Given the description of an element on the screen output the (x, y) to click on. 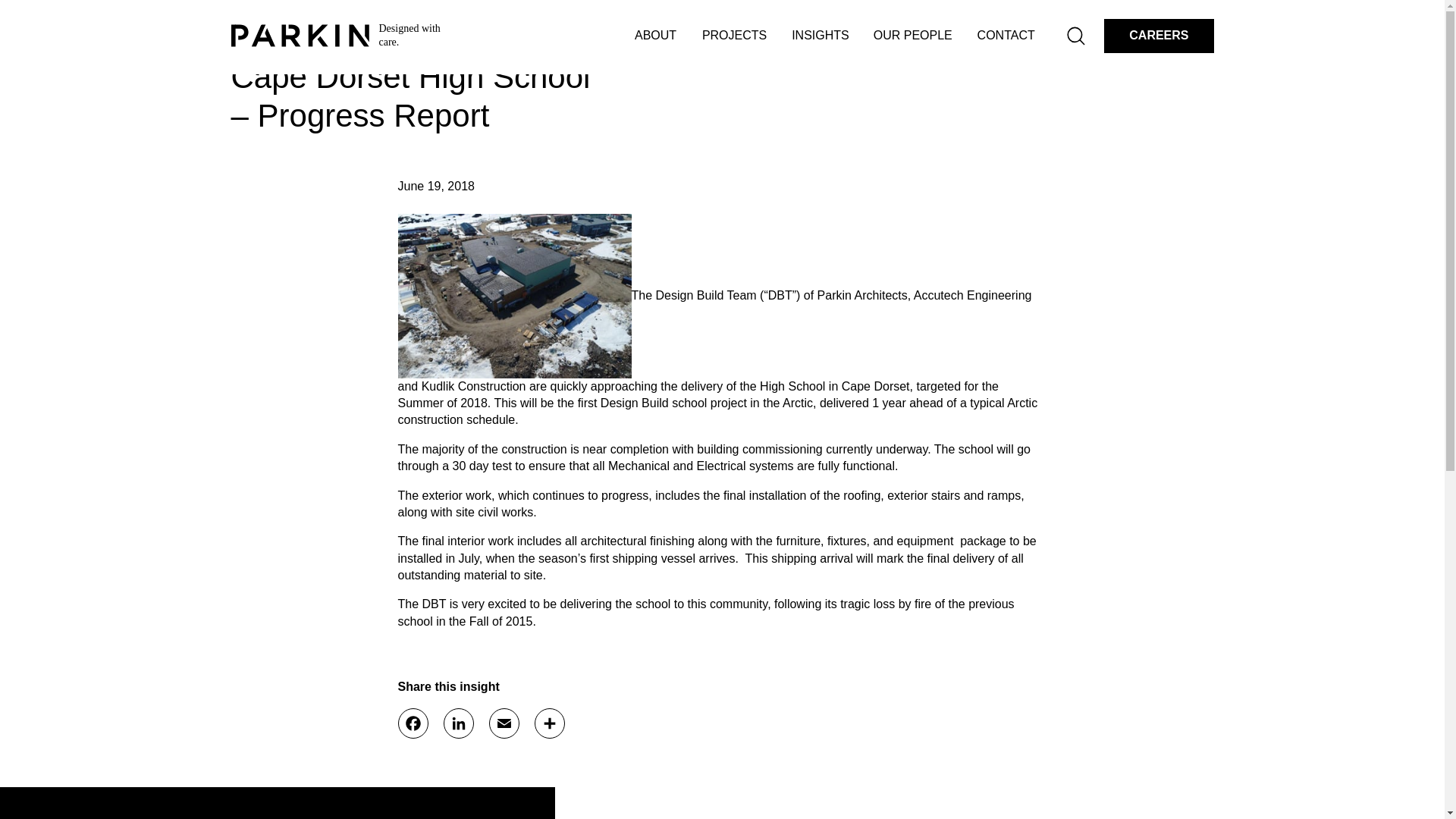
OUR PEOPLE (913, 35)
INSIGHTS (819, 35)
Facebook (412, 723)
CAREERS (1157, 35)
Facebook (412, 723)
LinkedIn (457, 723)
ABOUT (656, 35)
PROJECTS (734, 35)
Email (502, 723)
Search (1076, 35)
Search icon (1075, 35)
CONTACT (1006, 35)
Email (502, 723)
Designed with care. (340, 35)
LinkedIn (457, 723)
